Given the description of an element on the screen output the (x, y) to click on. 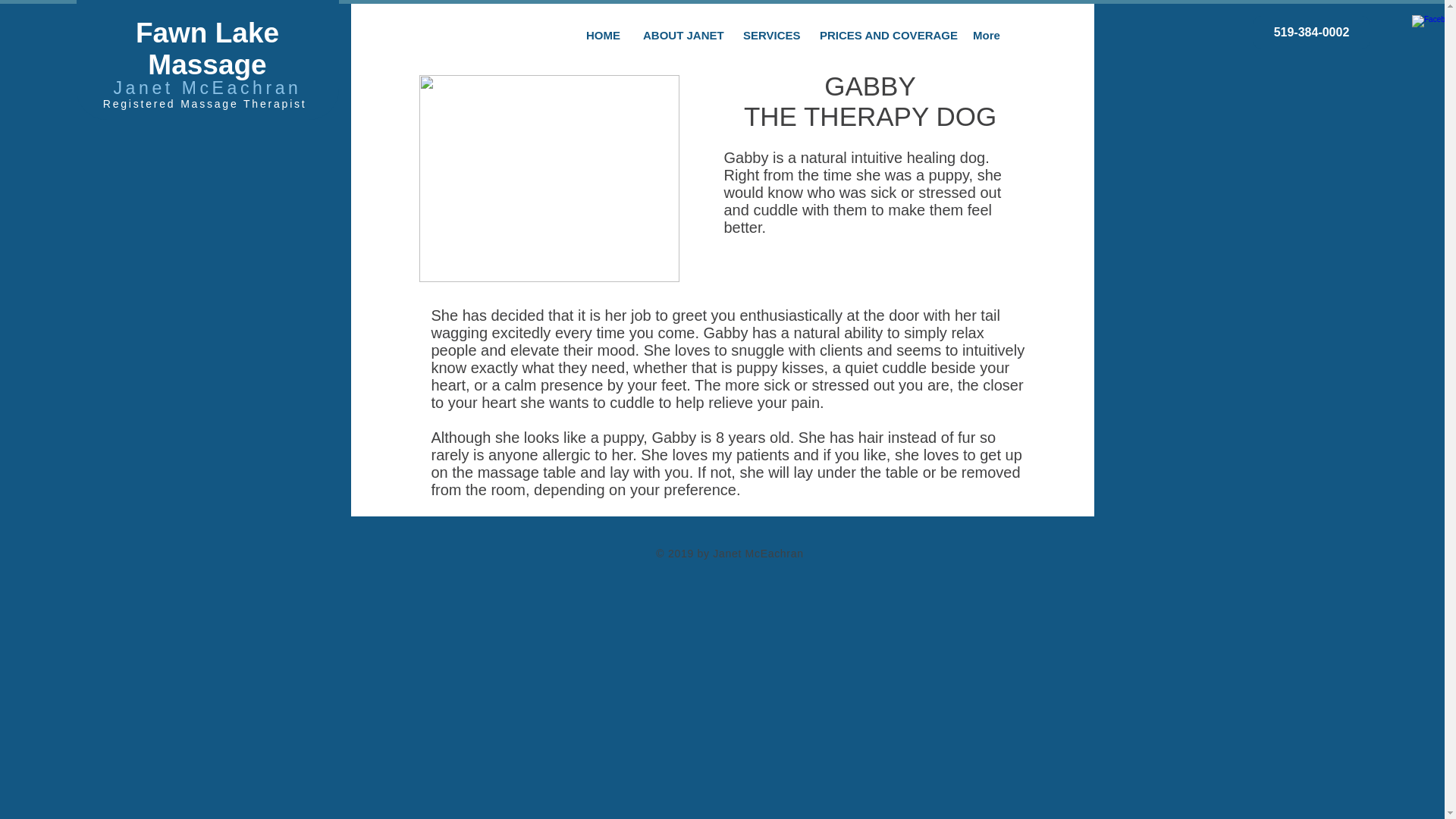
Janet McEachran (207, 87)
SERVICES (770, 34)
HOME (602, 34)
ABOUT JANET (680, 34)
PRICES AND COVERAGE (884, 34)
